Given the description of an element on the screen output the (x, y) to click on. 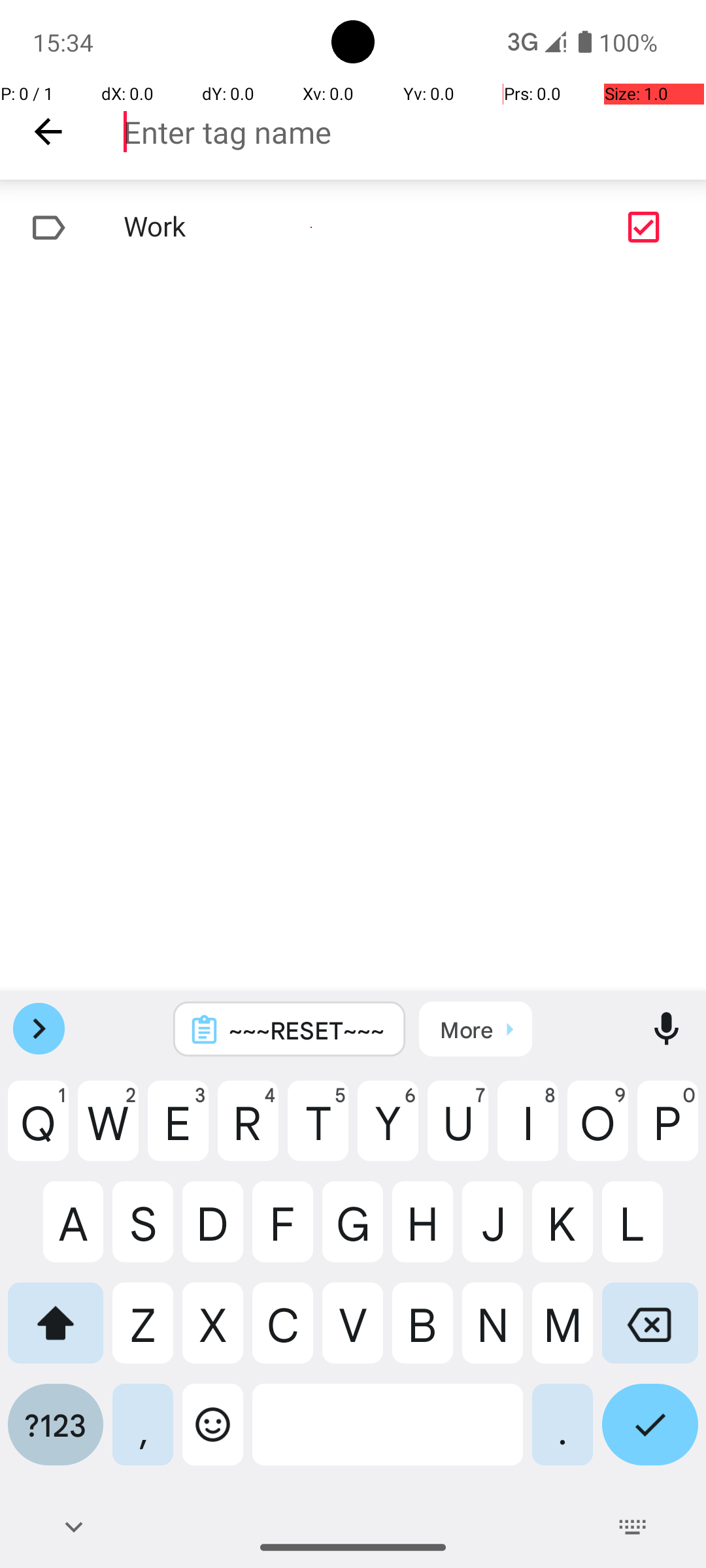
Enter tag name Element type: android.widget.EditText (414, 131)
